Given the description of an element on the screen output the (x, y) to click on. 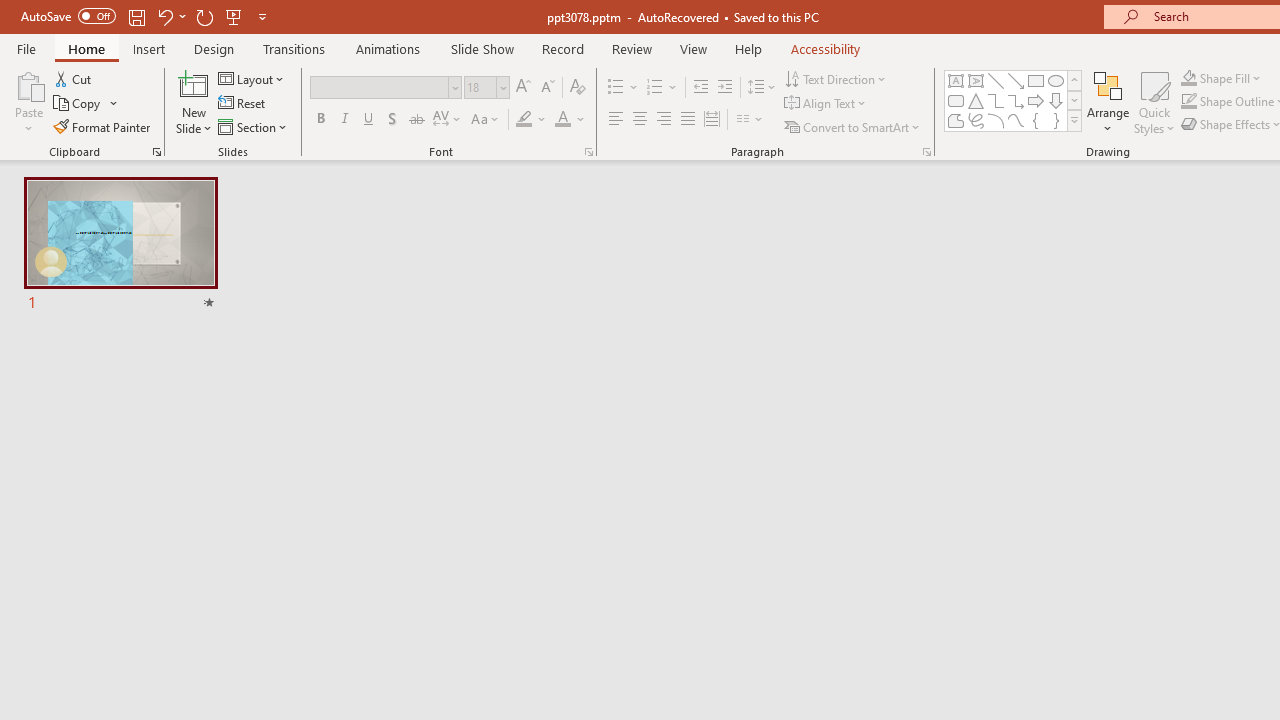
Shape Fill Dark Green, Accent 2 (1188, 78)
